Given the description of an element on the screen output the (x, y) to click on. 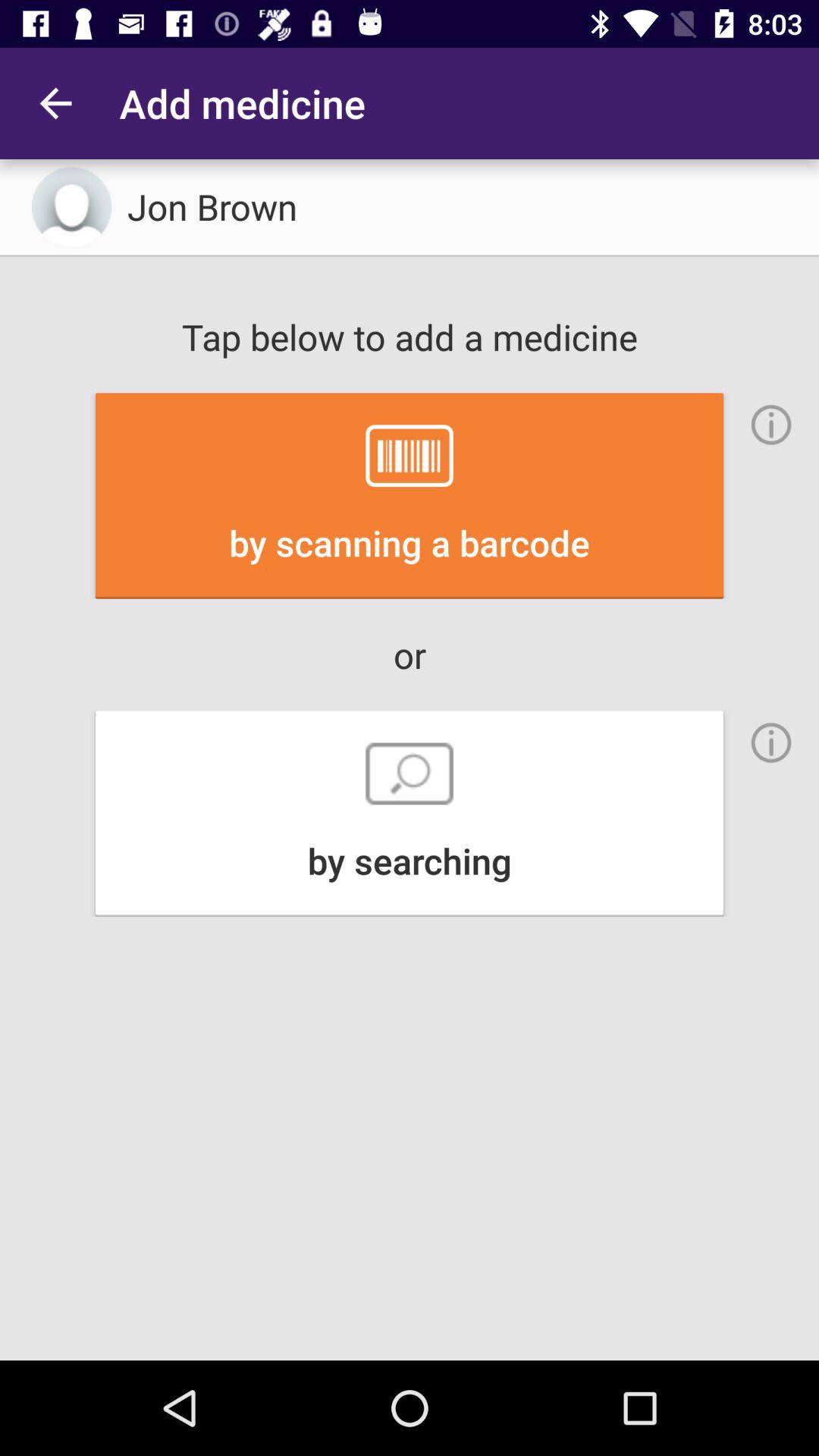
see information (771, 742)
